Given the description of an element on the screen output the (x, y) to click on. 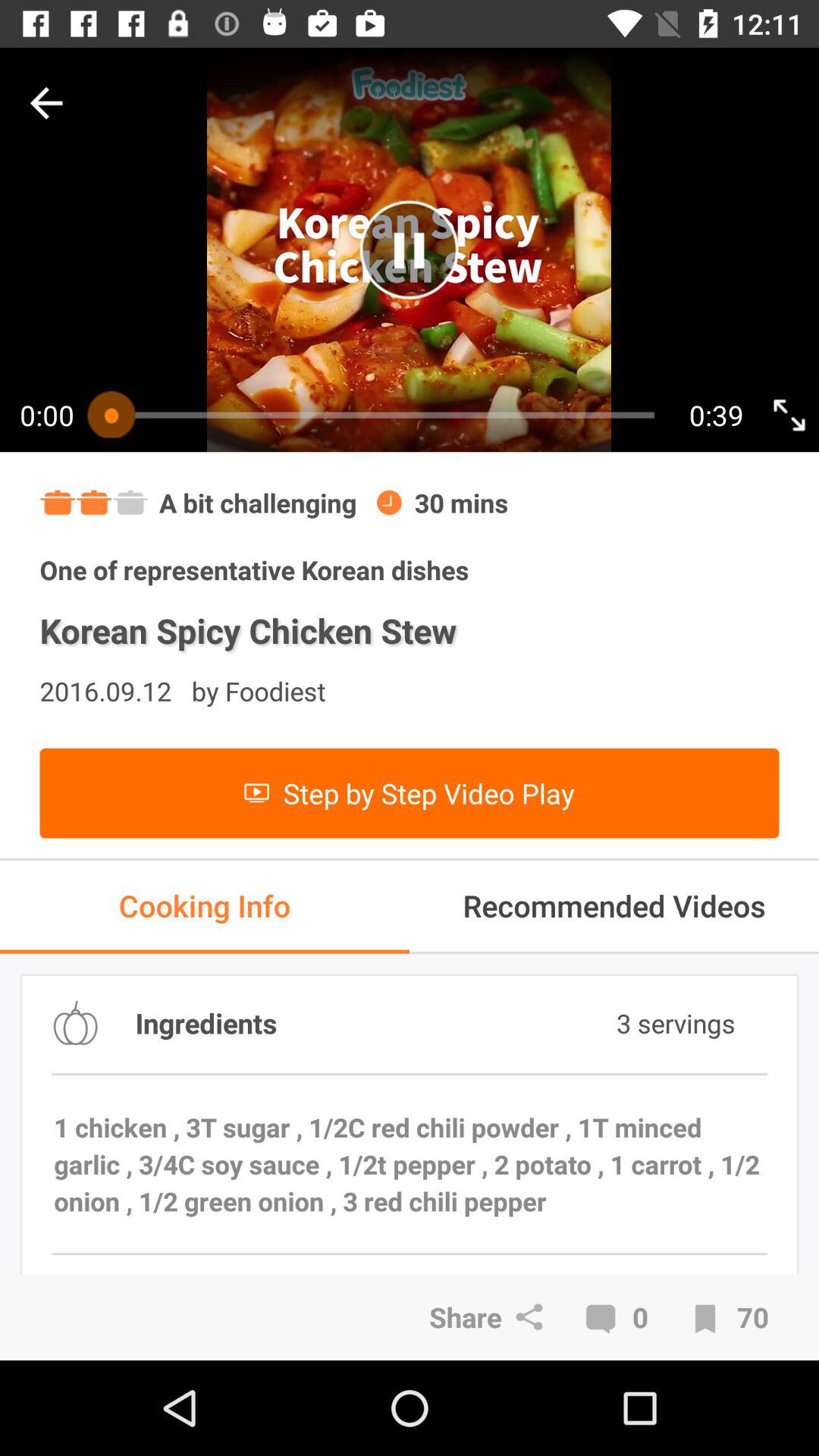
back to previous menu (46, 102)
